Given the description of an element on the screen output the (x, y) to click on. 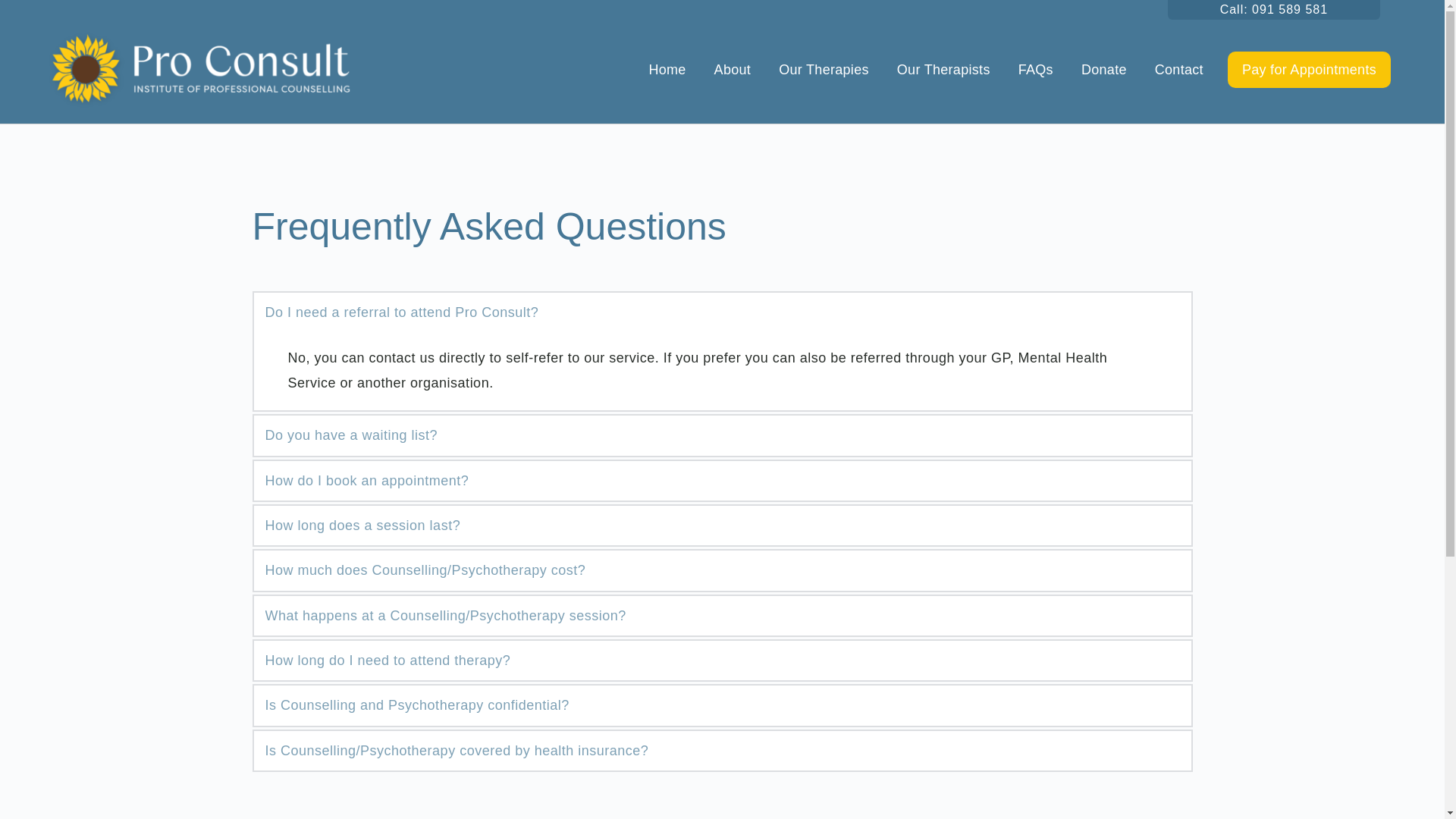
Pay for Appointments (1309, 69)
Donate (1104, 69)
Our Therapies (823, 69)
Our Therapists (943, 69)
Call: 091 589 581 (1273, 9)
Home (666, 69)
Contact (1179, 69)
About (732, 69)
FAQs (1035, 69)
